Given the description of an element on the screen output the (x, y) to click on. 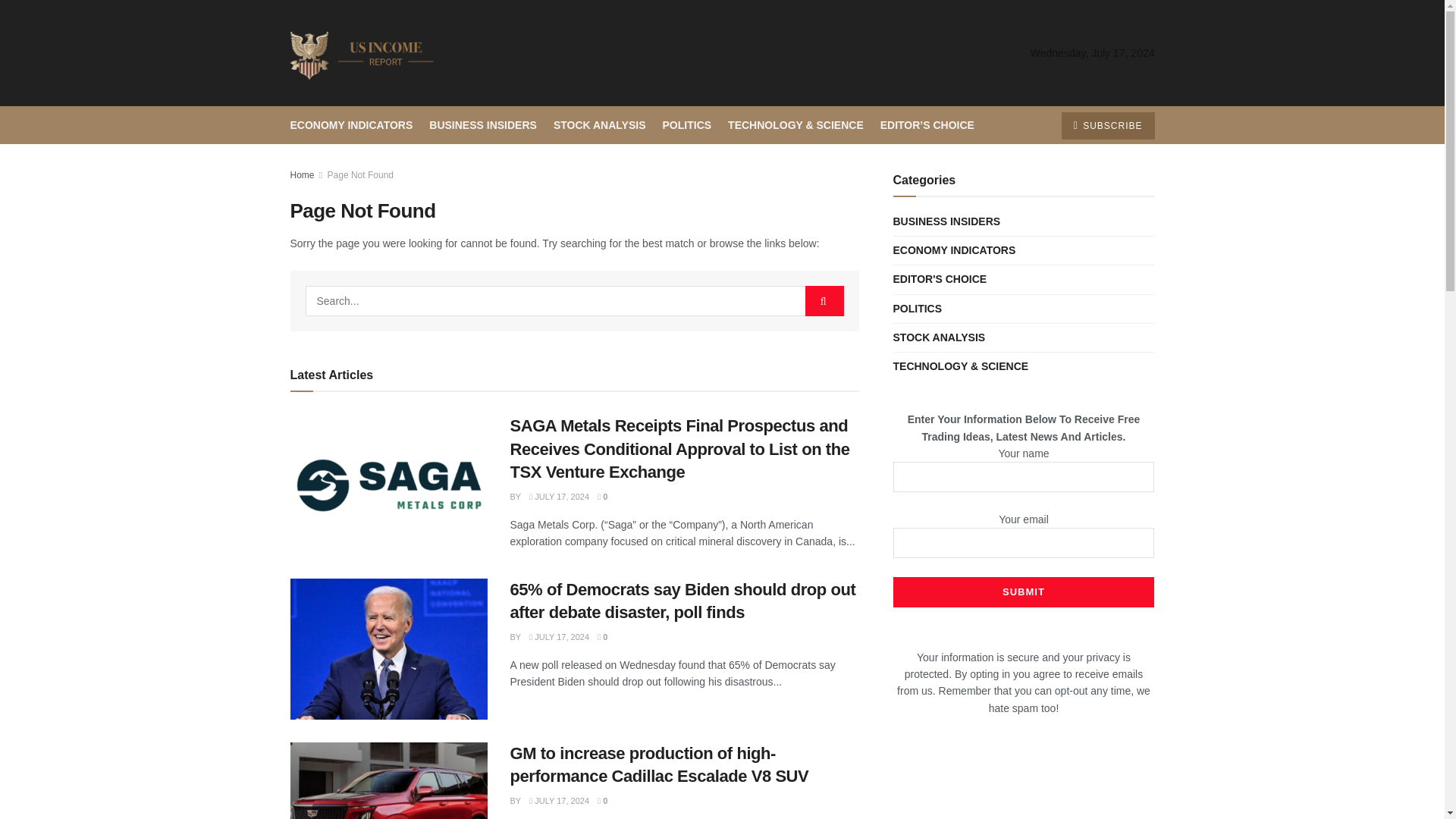
BUSINESS INSIDERS (483, 125)
STOCK ANALYSIS (599, 125)
Home (301, 174)
0 (601, 800)
SUBSCRIBE (1107, 125)
Submit (1023, 592)
JULY 17, 2024 (559, 636)
Page Not Found (360, 174)
0 (601, 496)
ECONOMY INDICATORS (350, 125)
POLITICS (686, 125)
JULY 17, 2024 (559, 496)
JULY 17, 2024 (559, 800)
